Given the description of an element on the screen output the (x, y) to click on. 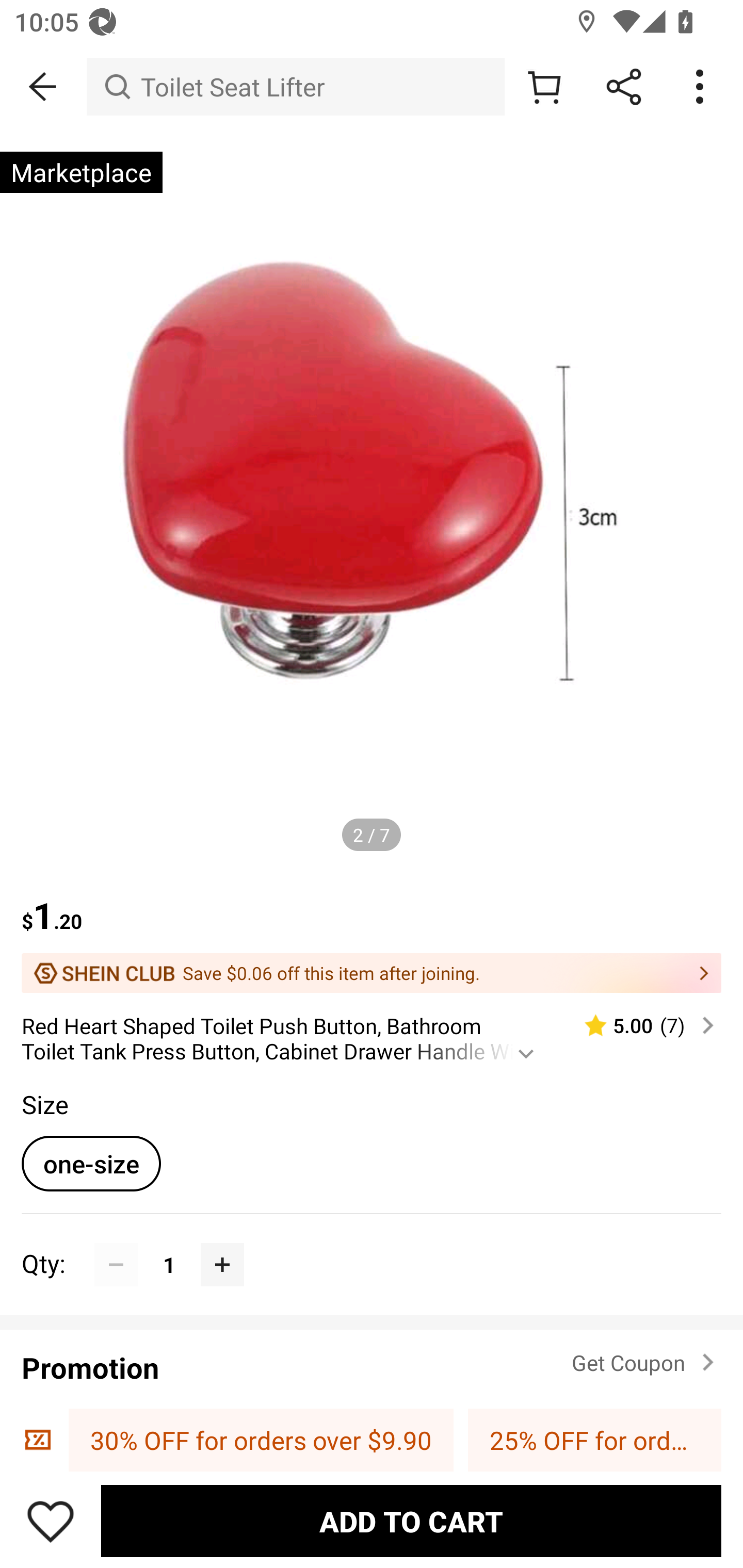
BACK (43, 86)
Toilet Seat Lifter (295, 87)
PHOTOS Marketplace 2 / 7 (371, 501)
2 / 7 (371, 834)
$1.20 Save $0.06 off this item after joining. (371, 932)
Save $0.06 off this item after joining. (371, 972)
5.00 (7) (640, 1025)
Size (44, 1103)
one-size one-sizeselected option (91, 1163)
Qty: 1 (371, 1241)
ADD TO CART (411, 1520)
Save (50, 1520)
